Given the description of an element on the screen output the (x, y) to click on. 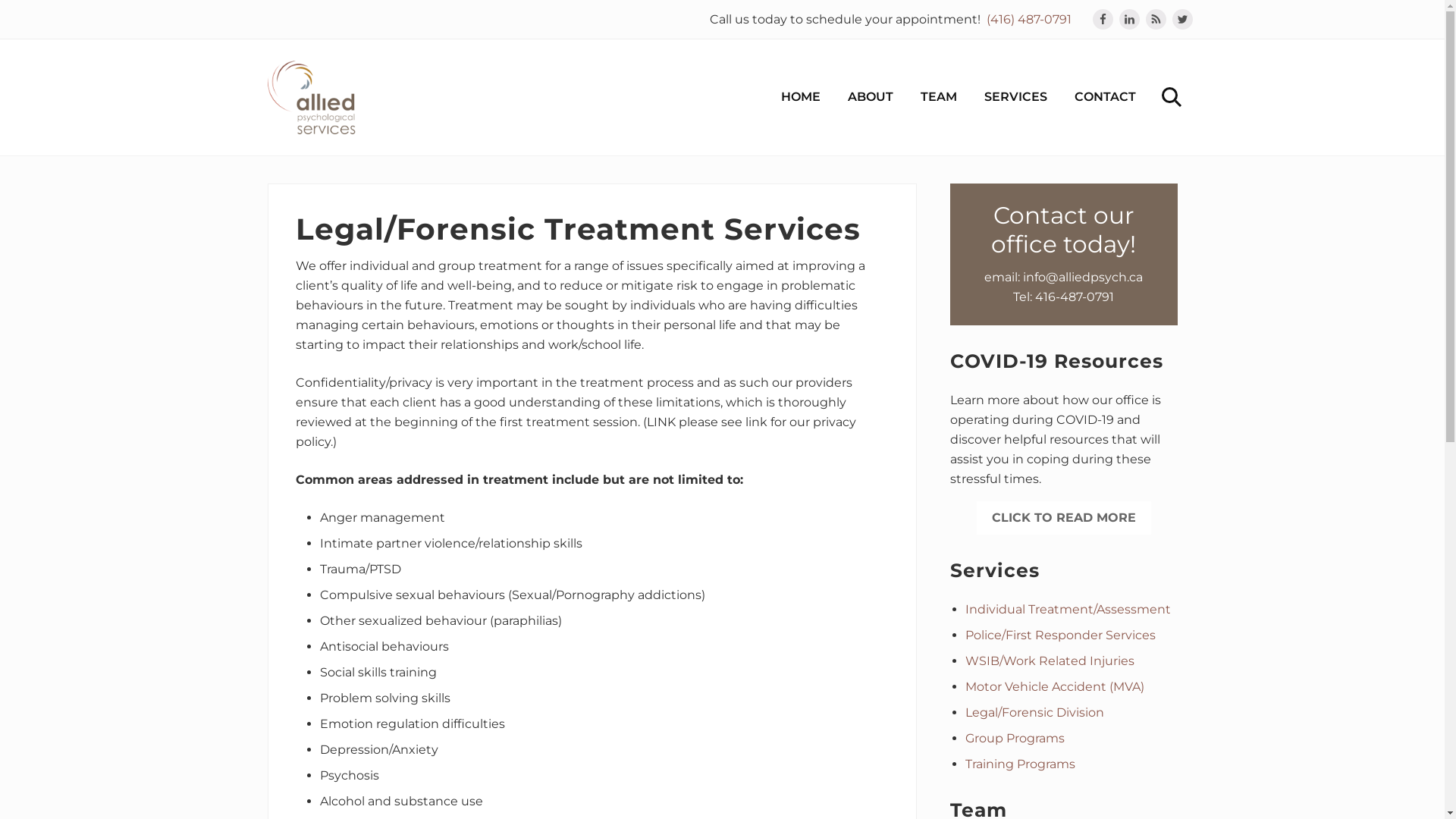
Motor Vehicle Accident (MVA) Element type: text (1053, 686)
Individual Treatment/Assessment Element type: text (1067, 609)
ABOUT Element type: text (870, 97)
WSIB/Work Related Injuries Element type: text (1048, 660)
SERVICES Element type: text (1015, 97)
Training Programs Element type: text (1019, 763)
TEAM Element type: text (938, 97)
HOME Element type: text (800, 97)
Legal/Forensic Division Element type: text (1033, 712)
LinkedIn Element type: text (1129, 19)
Twitter Element type: text (1182, 19)
Skip to right header navigation Element type: text (0, 0)
Group Programs Element type: text (1013, 738)
CONTACT Element type: text (1104, 97)
(416) 487-0791 Element type: text (1027, 19)
RSS Element type: text (1155, 19)
Facebook Element type: text (1102, 19)
Police/First Responder Services Element type: text (1059, 634)
CLICK TO READ MORE Element type: text (1063, 517)
Search Element type: text (1169, 97)
